Given the description of an element on the screen output the (x, y) to click on. 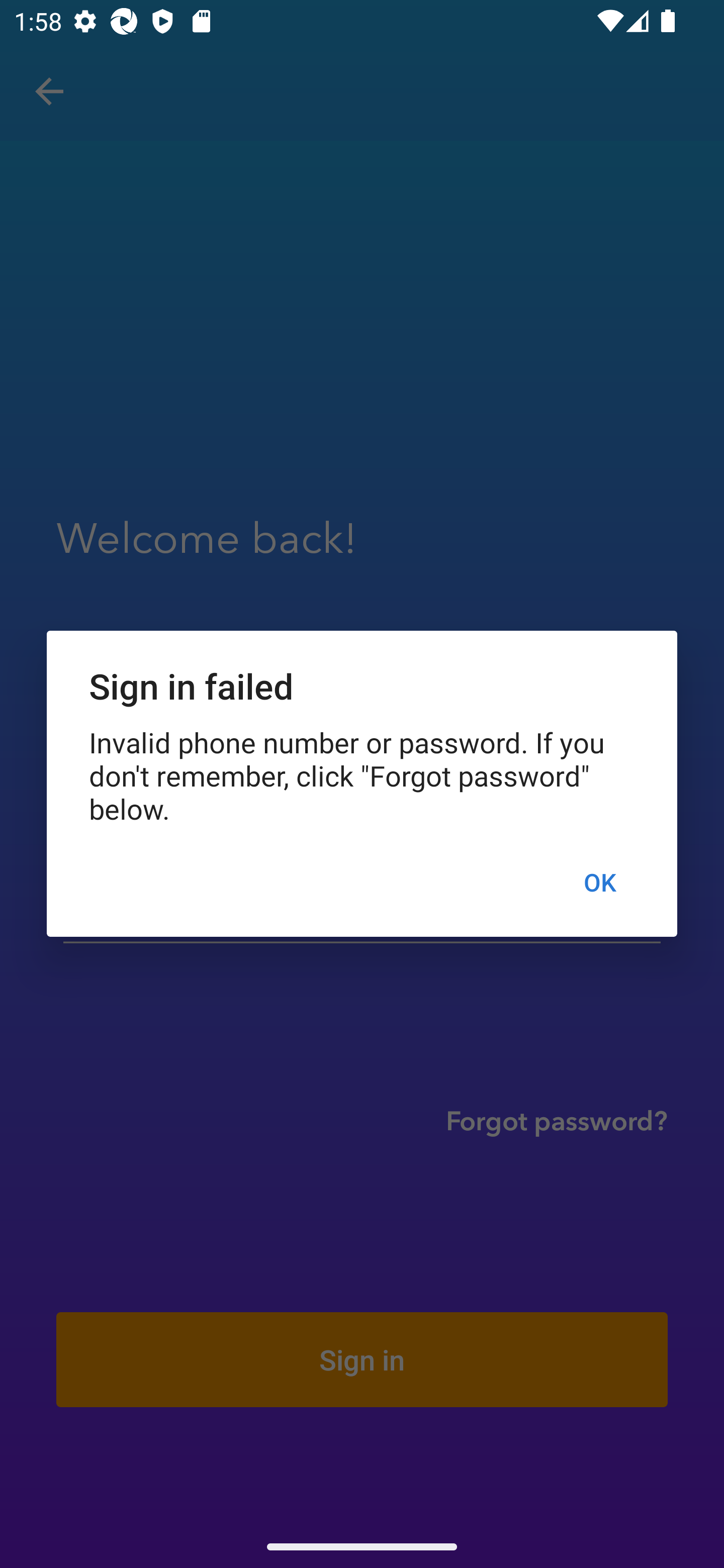
OK (599, 881)
